Given the description of an element on the screen output the (x, y) to click on. 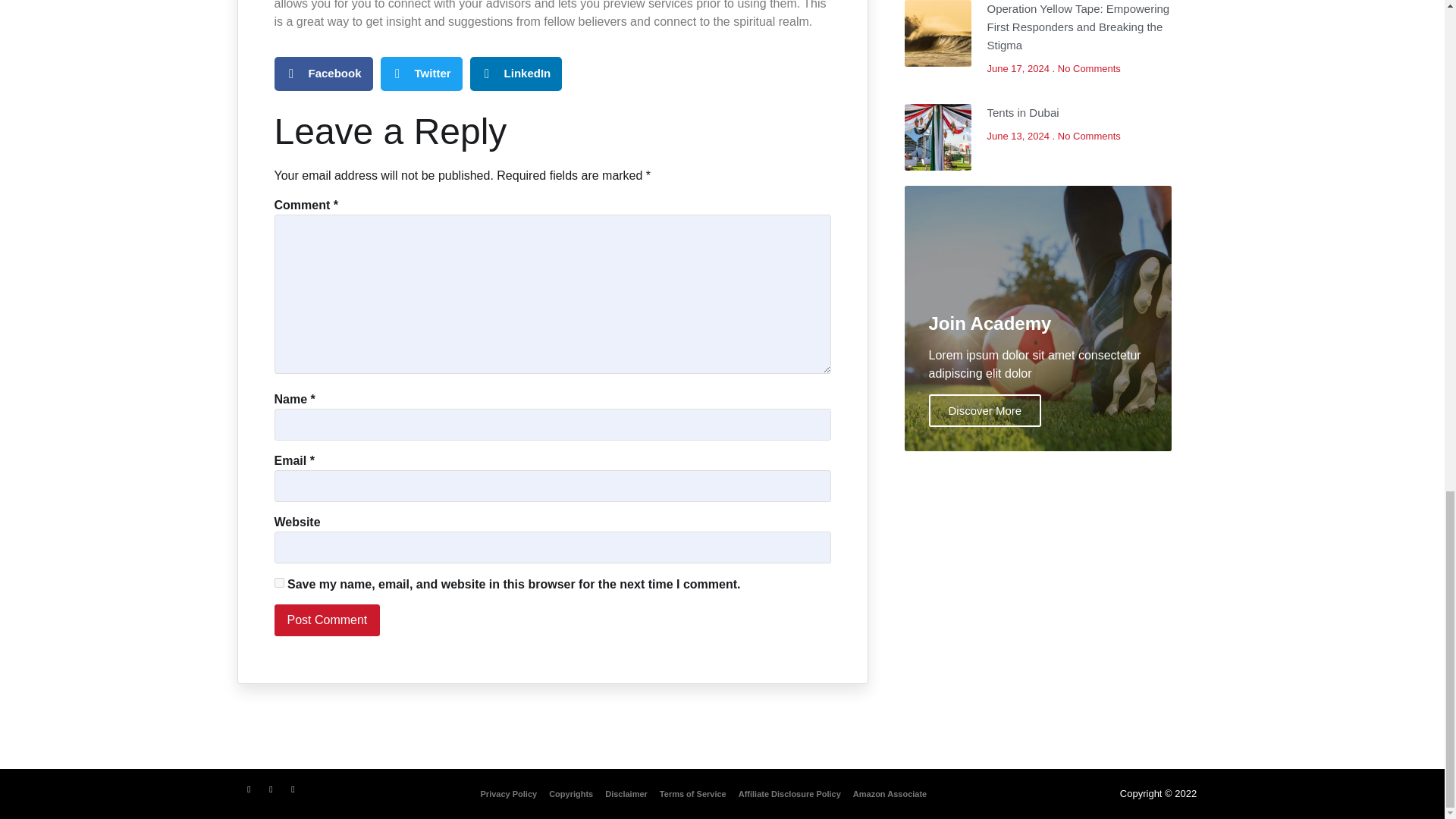
Copyrights (570, 793)
Disclaimer (625, 793)
Terms of Service (692, 793)
Tents in Dubai (1023, 112)
yes (279, 583)
Post Comment (327, 620)
Affiliate Disclosure Policy (789, 793)
Discover More (984, 409)
Post Comment (327, 620)
